Given the description of an element on the screen output the (x, y) to click on. 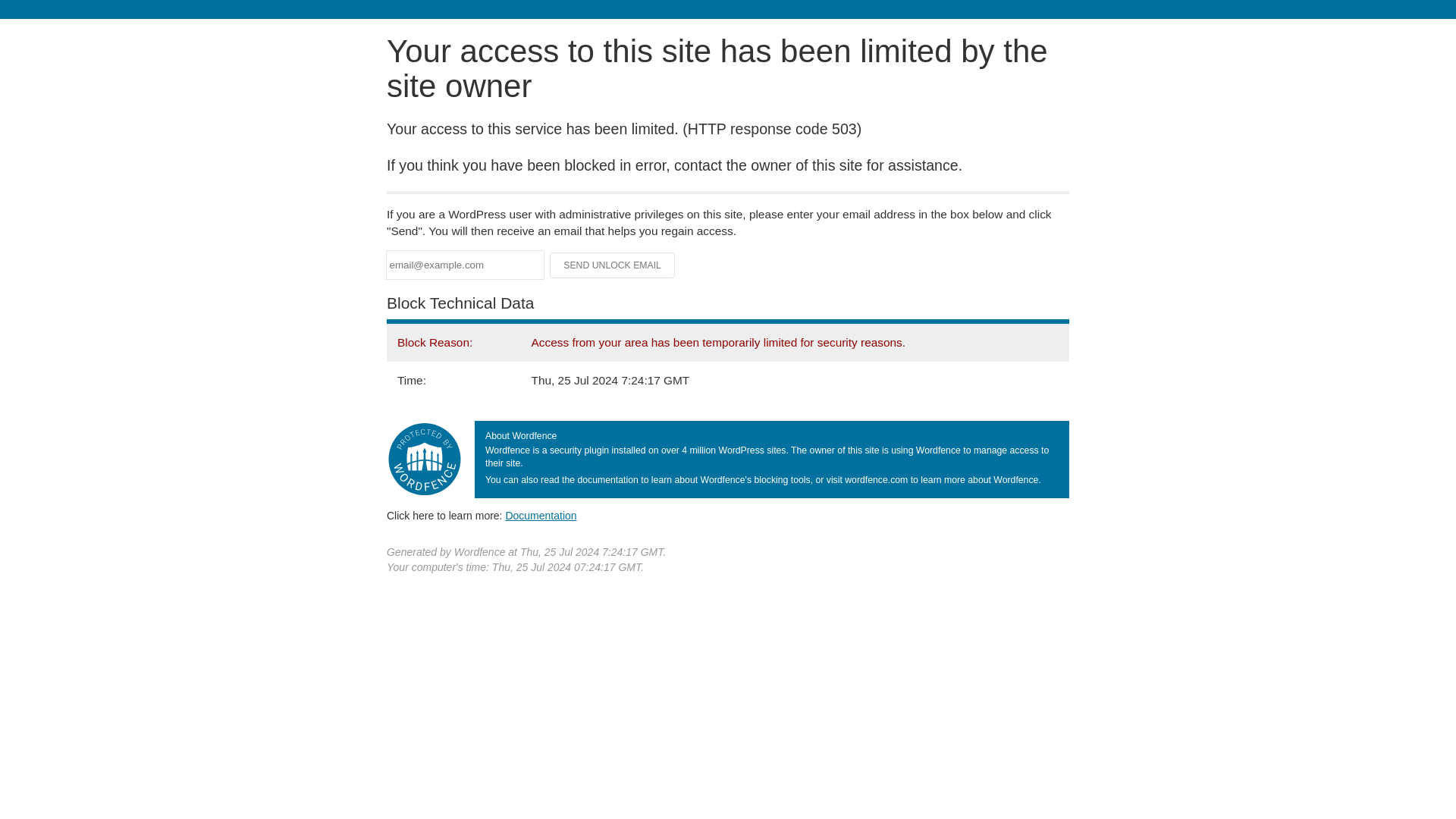
Send Unlock Email (612, 265)
Documentation (540, 515)
Send Unlock Email (612, 265)
